Given the description of an element on the screen output the (x, y) to click on. 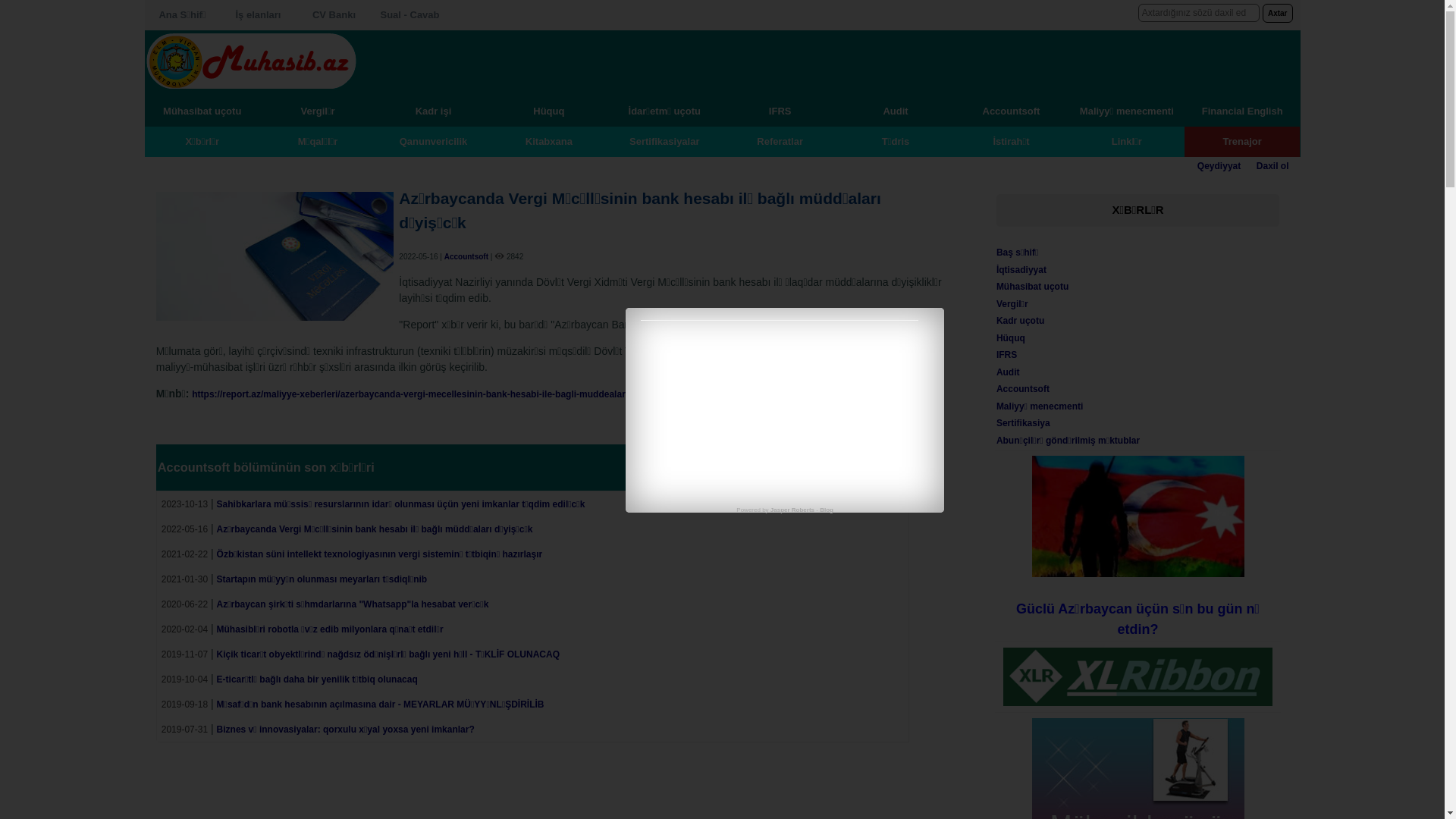
Trenajor Element type: text (1241, 140)
Accountsoft Element type: text (1022, 388)
Blog Element type: text (826, 509)
Qanunvericilik Element type: text (432, 140)
Sual - Cavab Element type: text (409, 15)
Financial English Element type: text (1241, 110)
Accountsoft Element type: text (1010, 110)
Sertifikasiya Element type: text (1023, 422)
Jasper Roberts Element type: text (792, 509)
Sertifikasiyalar Element type: text (663, 140)
Kitabxana Element type: text (548, 140)
Accountsoft Element type: text (466, 256)
IFRS Element type: text (779, 110)
Audit Element type: text (895, 110)
Qeydiyyat Element type: text (1218, 165)
Referatlar Element type: text (779, 140)
Axtar Element type: text (1277, 12)
IFRS Element type: text (1006, 354)
Audit Element type: text (1007, 372)
Daxil ol Element type: text (1272, 165)
